Given the description of an element on the screen output the (x, y) to click on. 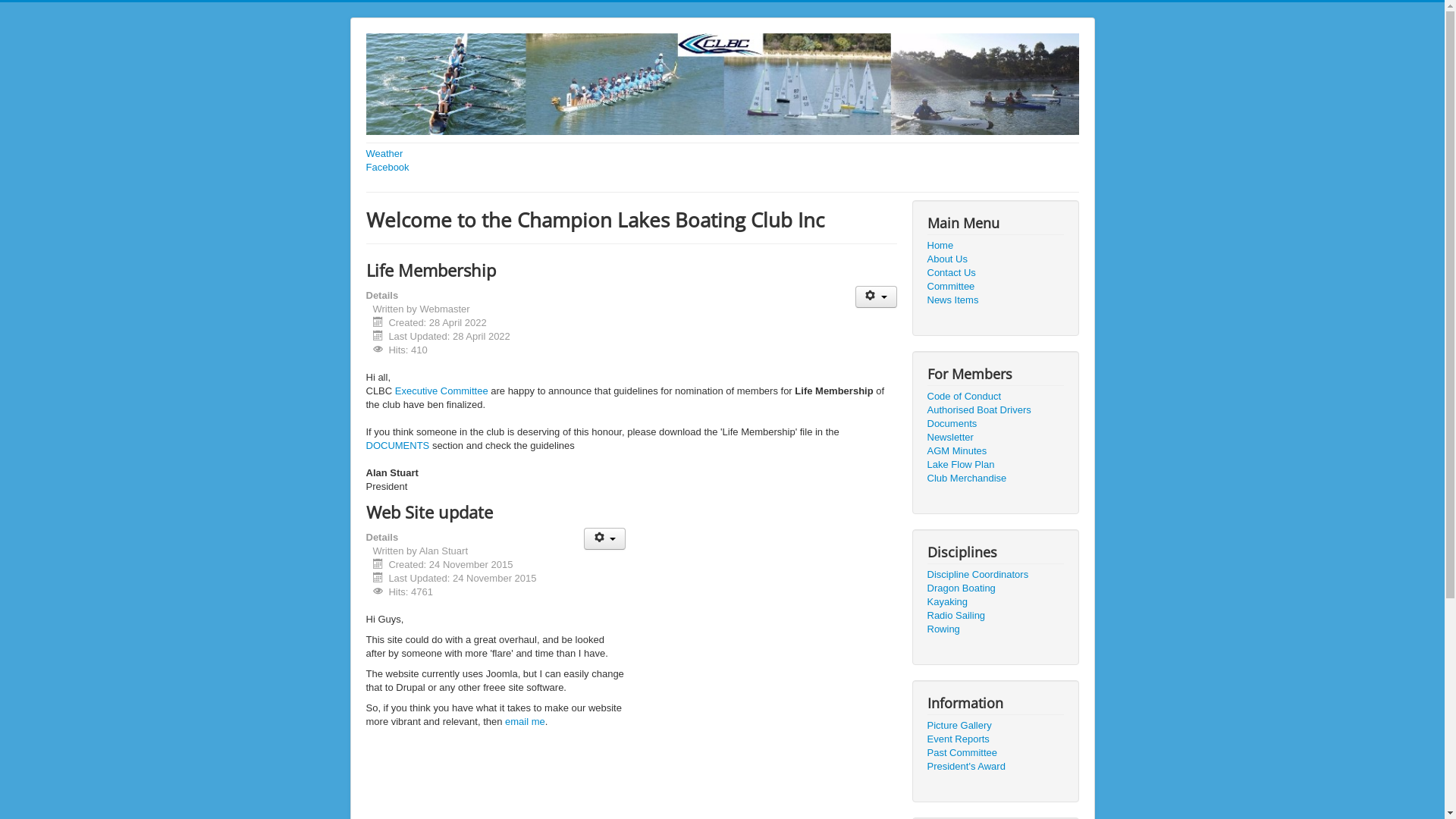
Executive Committee Element type: text (441, 390)
Past Committee Element type: text (994, 752)
Lake Flow Plan Element type: text (994, 464)
Club Merchandise Element type: text (994, 478)
Home Element type: text (994, 245)
Documents Element type: text (994, 423)
Dragon Boating Element type: text (994, 588)
Weather Element type: text (721, 153)
AGM Minutes Element type: text (994, 451)
Kayaking Element type: text (994, 601)
email me Element type: text (525, 721)
Contact Us Element type: text (994, 272)
About Us Element type: text (994, 259)
Authorised Boat Drivers Element type: text (994, 410)
Discipline Coordinators Element type: text (994, 574)
Radio Sailing Element type: text (994, 615)
Code of Conduct Element type: text (994, 396)
Newsletter Element type: text (994, 437)
Facebook Element type: text (721, 167)
Event Reports Element type: text (994, 739)
Picture Gallery Element type: text (994, 725)
Rowing Element type: text (994, 629)
DOCUMENTS Element type: text (398, 445)
Committee Element type: text (994, 286)
News Items Element type: text (994, 300)
President's Award Element type: text (994, 766)
